Given the description of an element on the screen output the (x, y) to click on. 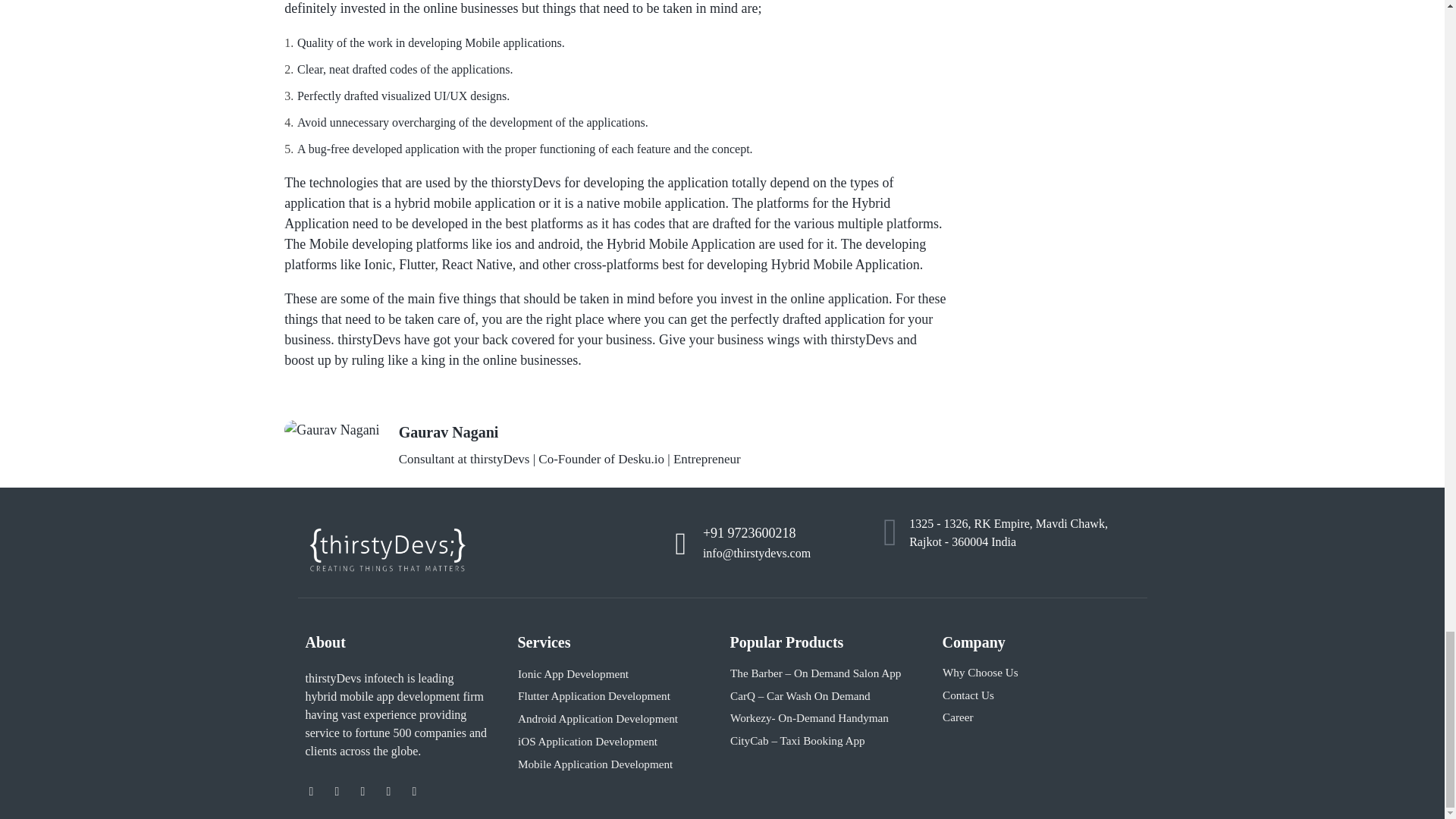
thirsty-white (386, 549)
